Given the description of an element on the screen output the (x, y) to click on. 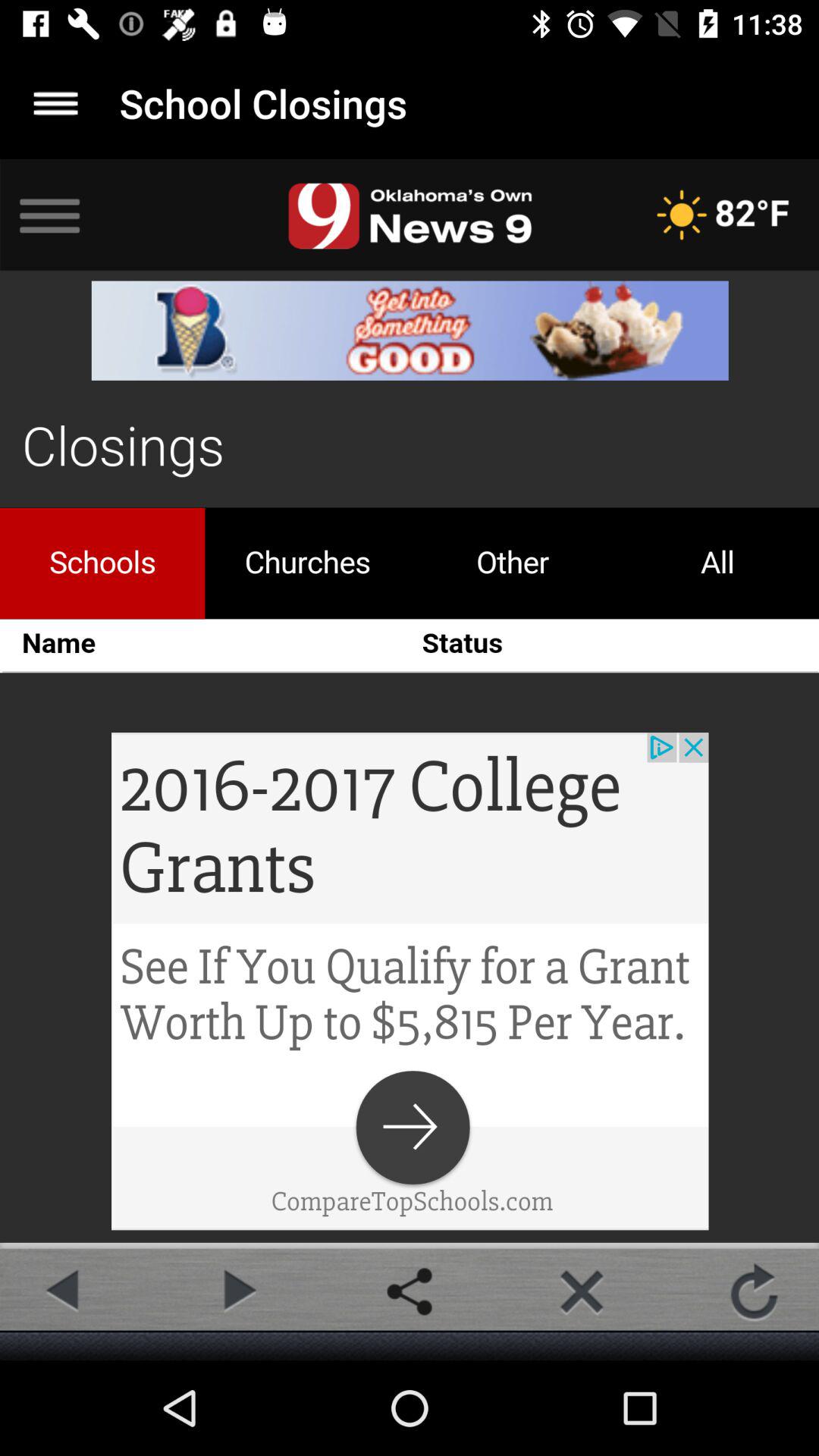
go to closed option (581, 1291)
